Given the description of an element on the screen output the (x, y) to click on. 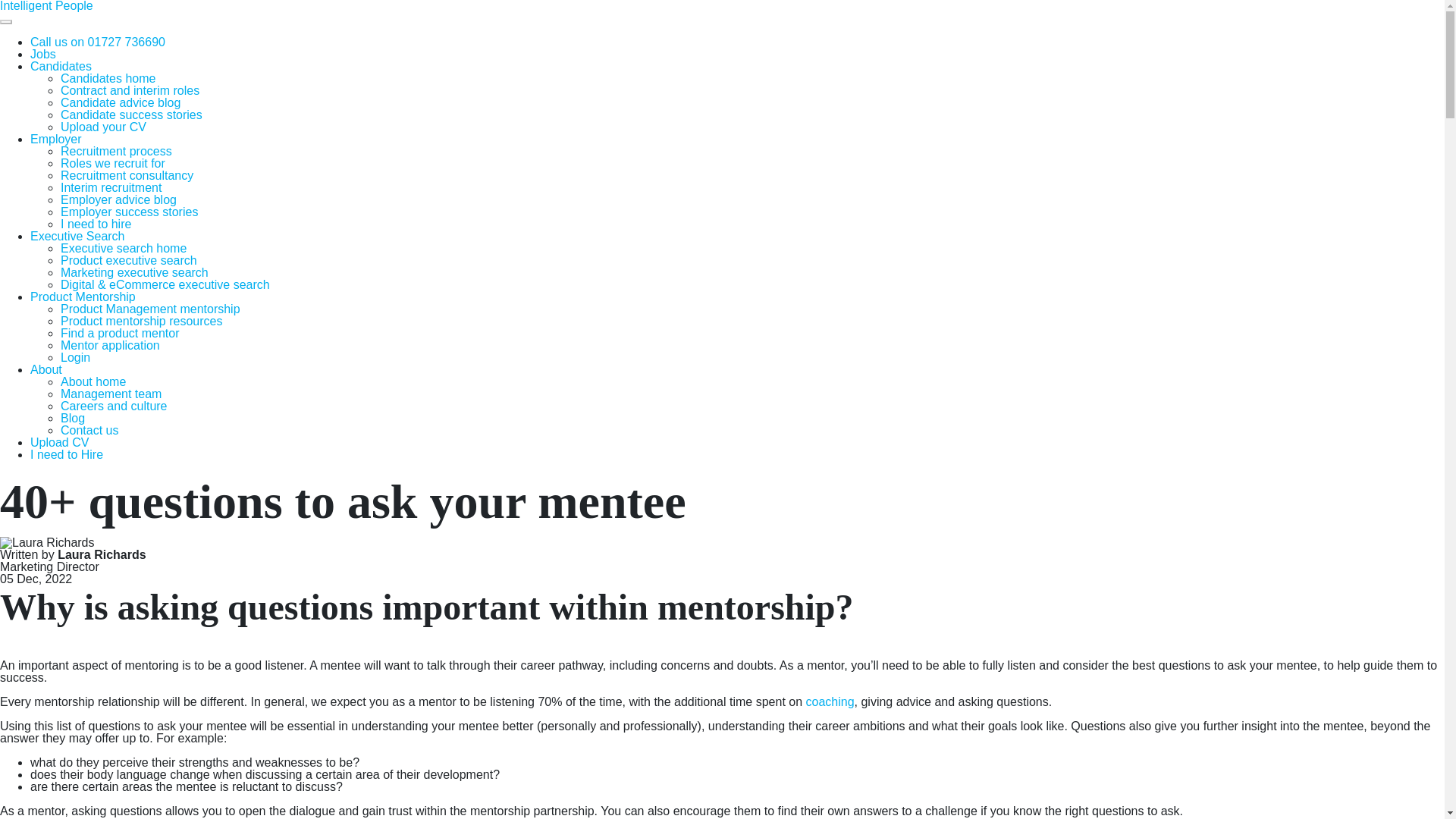
Employer advice blog (118, 199)
Upload CV (59, 441)
Contact us (89, 430)
Call us on 01727 736690 (97, 42)
Upload your CV (104, 126)
Candidates home (108, 78)
Employer success stories (129, 211)
Jobs (43, 53)
Recruitment consultancy (127, 174)
Careers and culture (114, 405)
Candidate advice blog (120, 102)
Recruitment process (116, 151)
Executive search home (123, 247)
About (46, 369)
About home (93, 381)
